Given the description of an element on the screen output the (x, y) to click on. 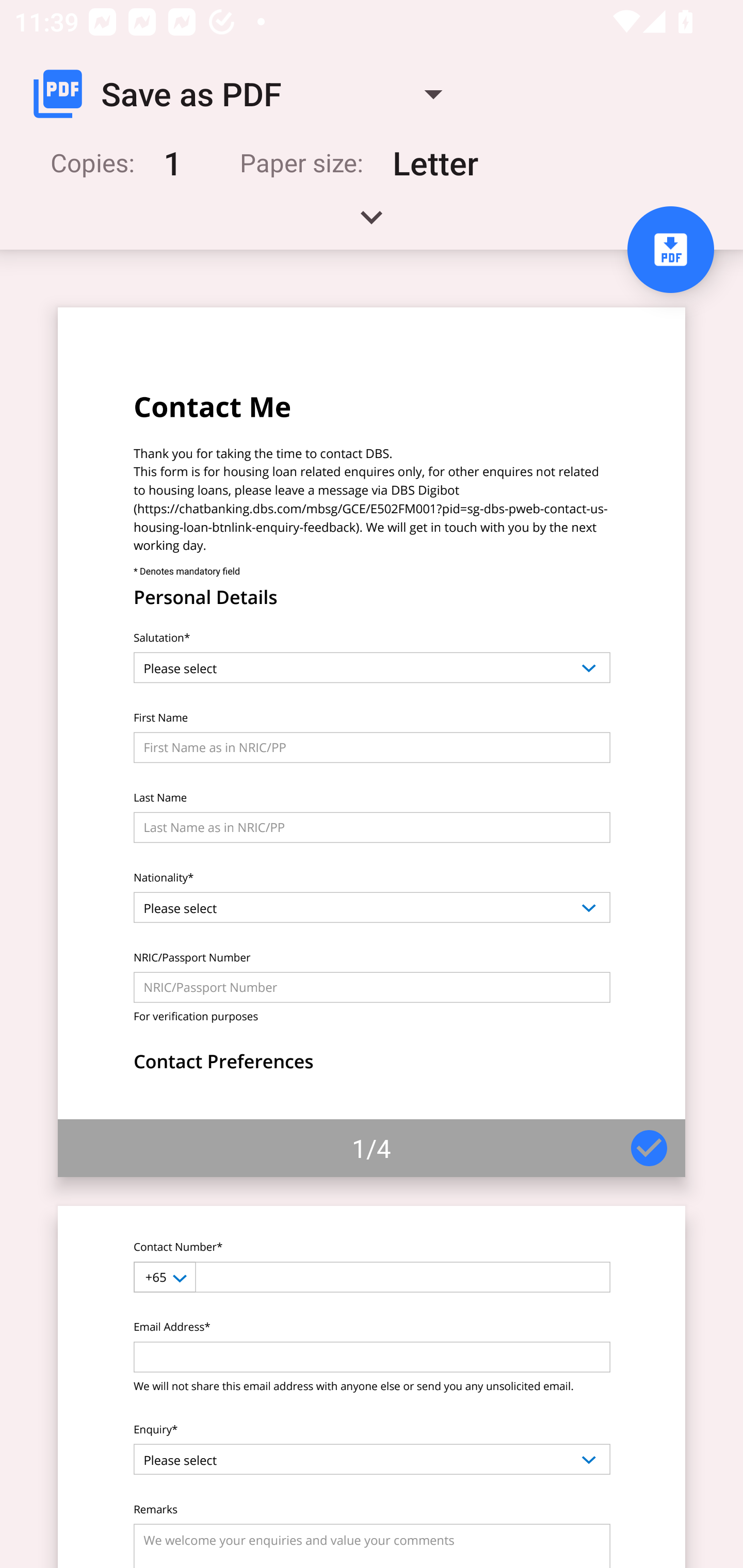
Save as PDF (245, 93)
Expand handle (371, 224)
Save to PDF (670, 249)
Page 1 of 4 1/4 (371, 742)
Page 2 of 4 (371, 1386)
